Given the description of an element on the screen output the (x, y) to click on. 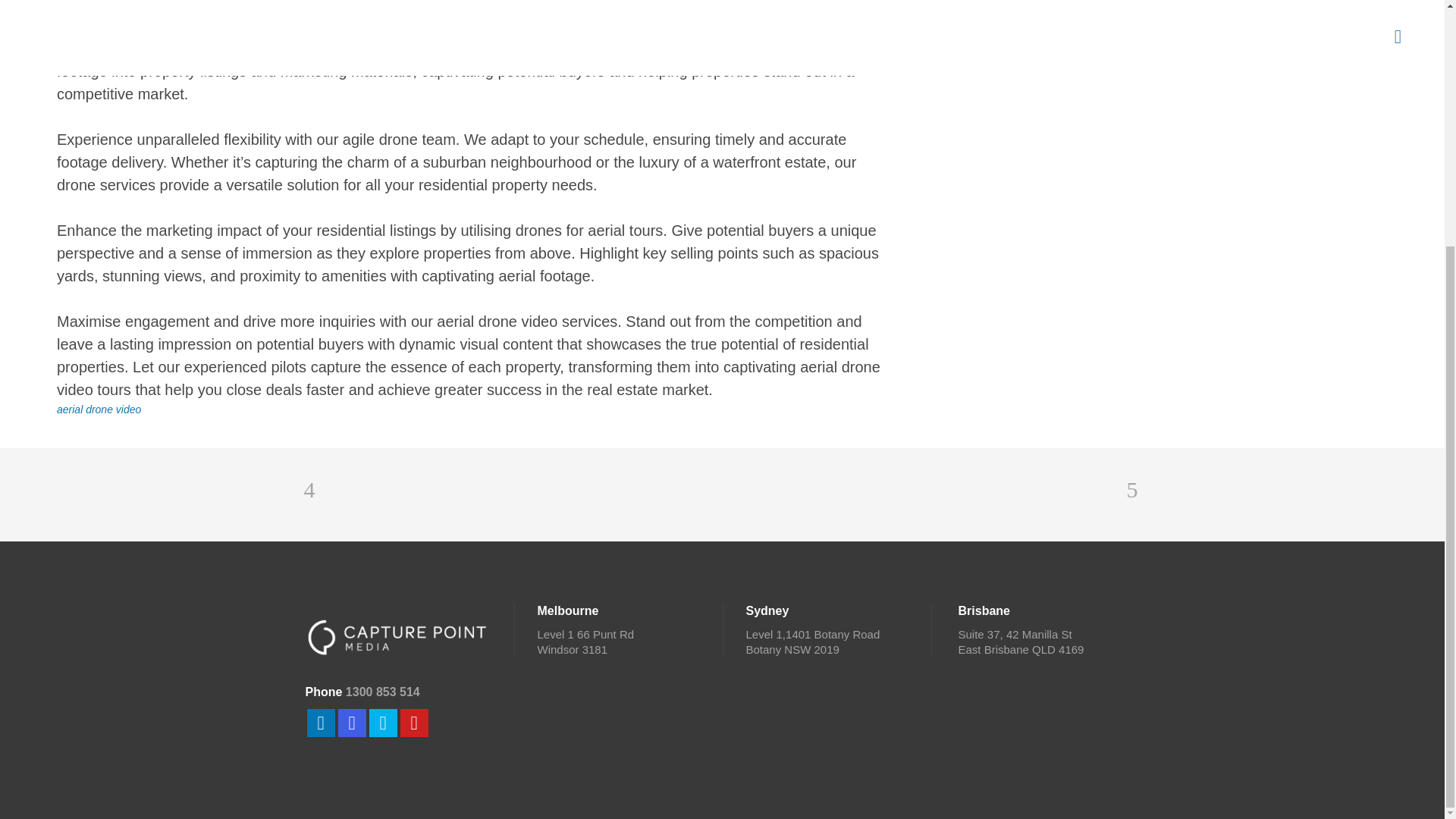
Instagram (351, 723)
aerial drone (84, 409)
LinkedIn (319, 723)
youtube (413, 722)
LinkedIn (320, 722)
youtube (414, 723)
Vimeo (381, 722)
video (128, 409)
Vimeo (382, 723)
Instagram (351, 722)
1300 853 514 (383, 691)
